Given the description of an element on the screen output the (x, y) to click on. 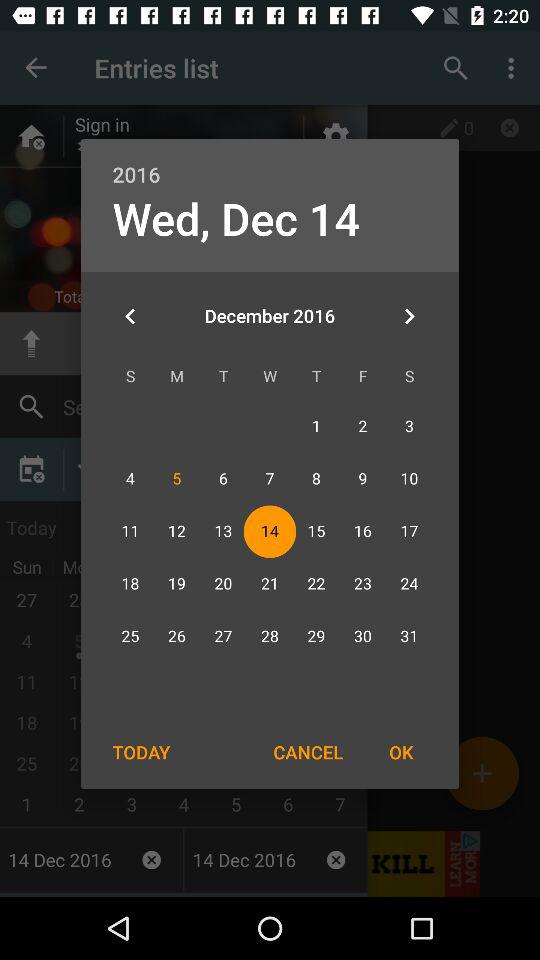
tap the item next to cancel icon (401, 751)
